Given the description of an element on the screen output the (x, y) to click on. 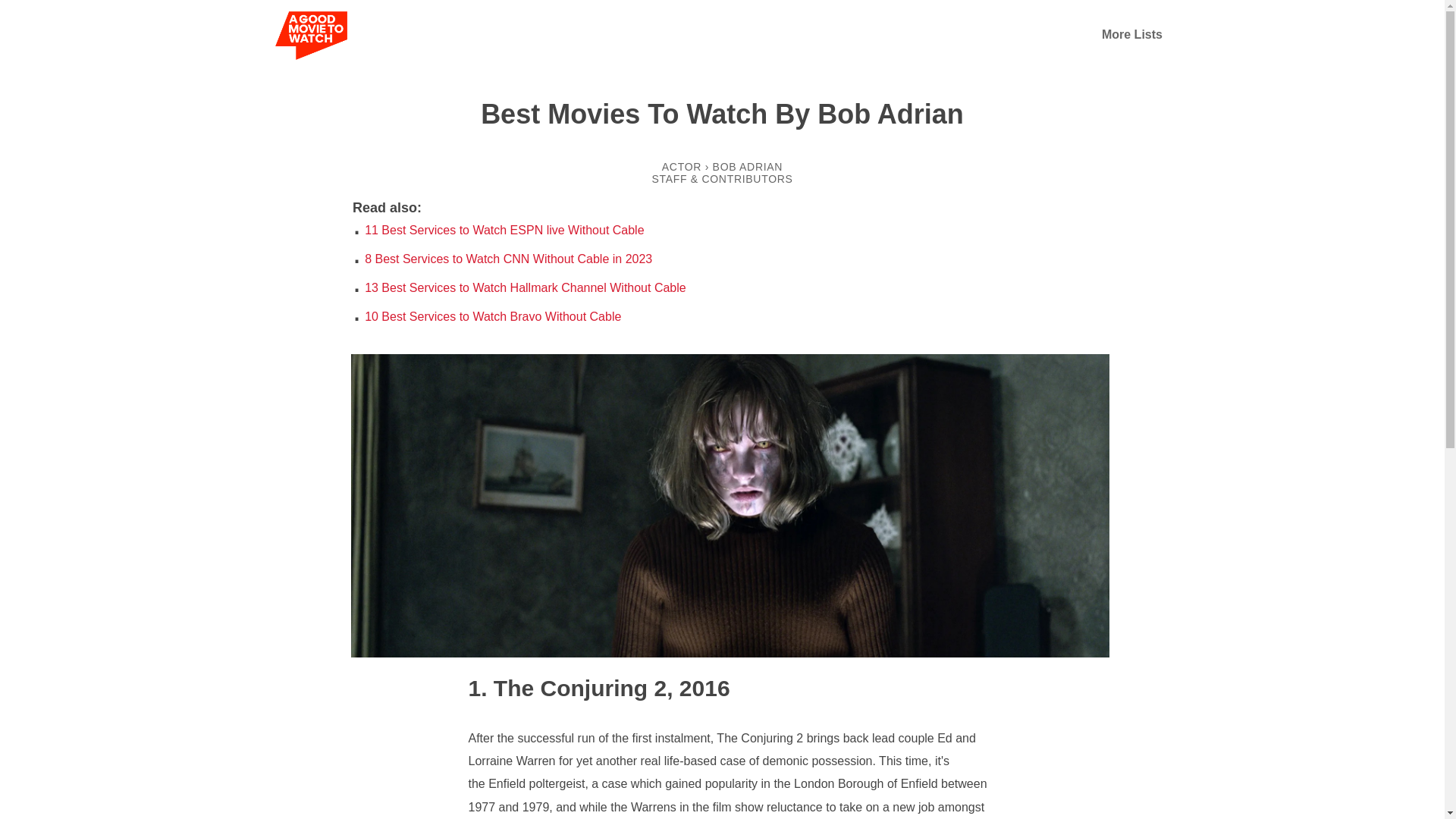
The Conjuring 2 (567, 687)
More Lists (1132, 34)
